Given the description of an element on the screen output the (x, y) to click on. 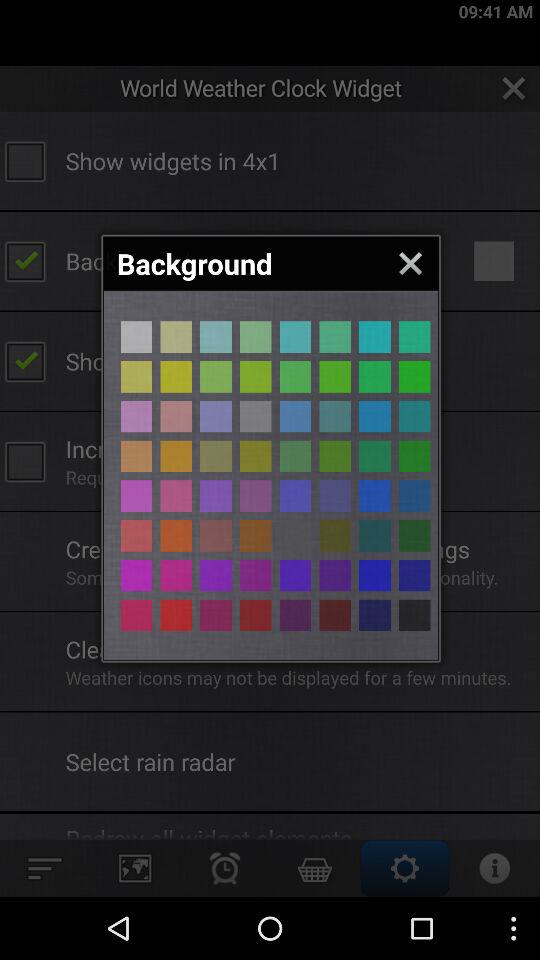
bockgrount colour selecting (335, 615)
